Given the description of an element on the screen output the (x, y) to click on. 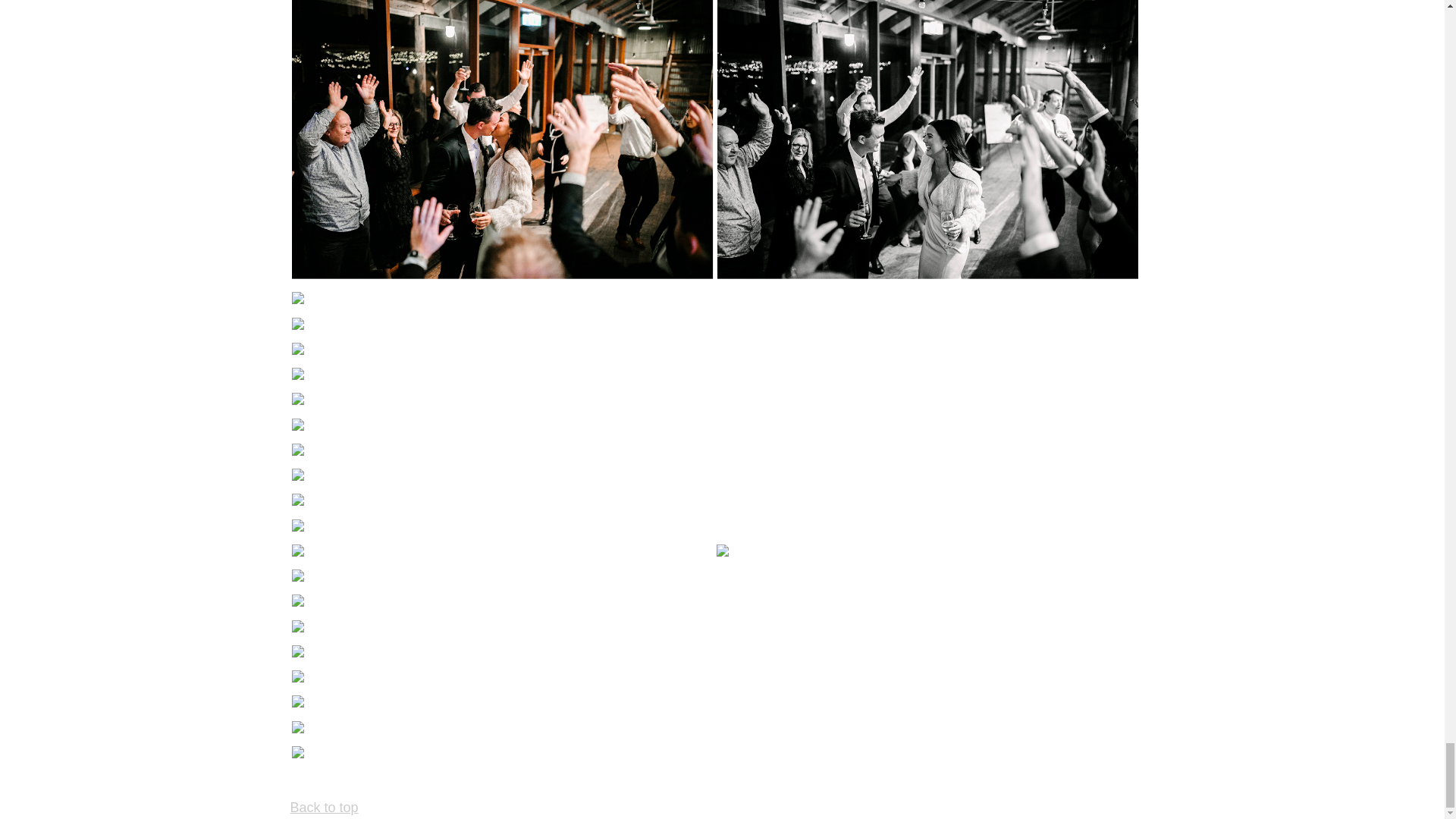
Back to top (323, 807)
